Given the description of an element on the screen output the (x, y) to click on. 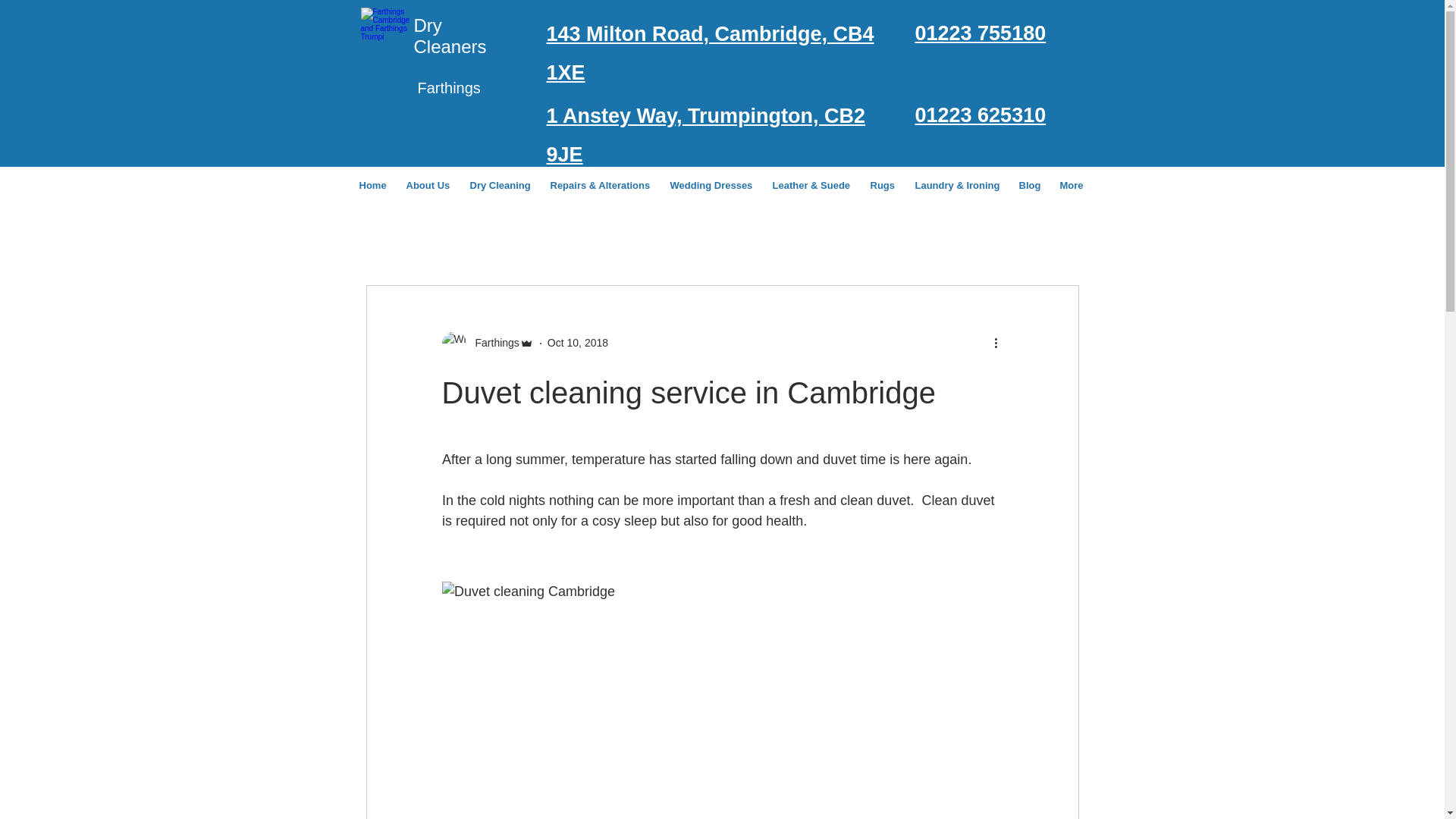
Farthings (486, 342)
01223 625310 (979, 115)
Dry Cleaning (503, 185)
143 Milton Road, Cambridge, CB4 1XE (709, 53)
1 Anstey Way, Trumpington, CB2 9JE (705, 135)
Wedding Dresses (713, 185)
01223 755180 (979, 33)
Blog (1031, 185)
Oct 10, 2018 (577, 342)
Home (375, 185)
